Given the description of an element on the screen output the (x, y) to click on. 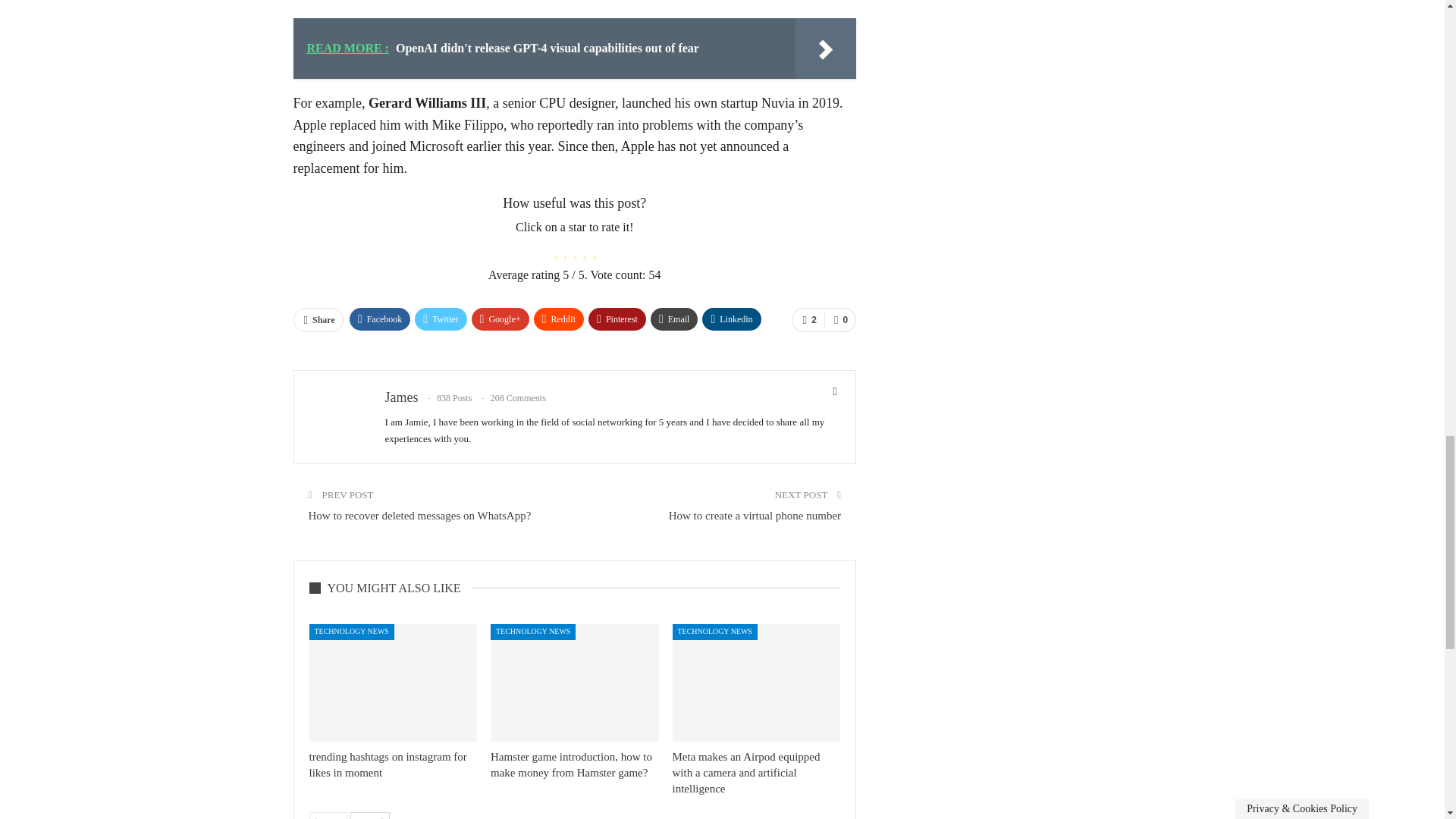
0 (840, 319)
trending hashtags on instagram for likes in moment (387, 764)
trending hashtags on instagram for likes in moment (392, 683)
Facebook (379, 318)
